Given the description of an element on the screen output the (x, y) to click on. 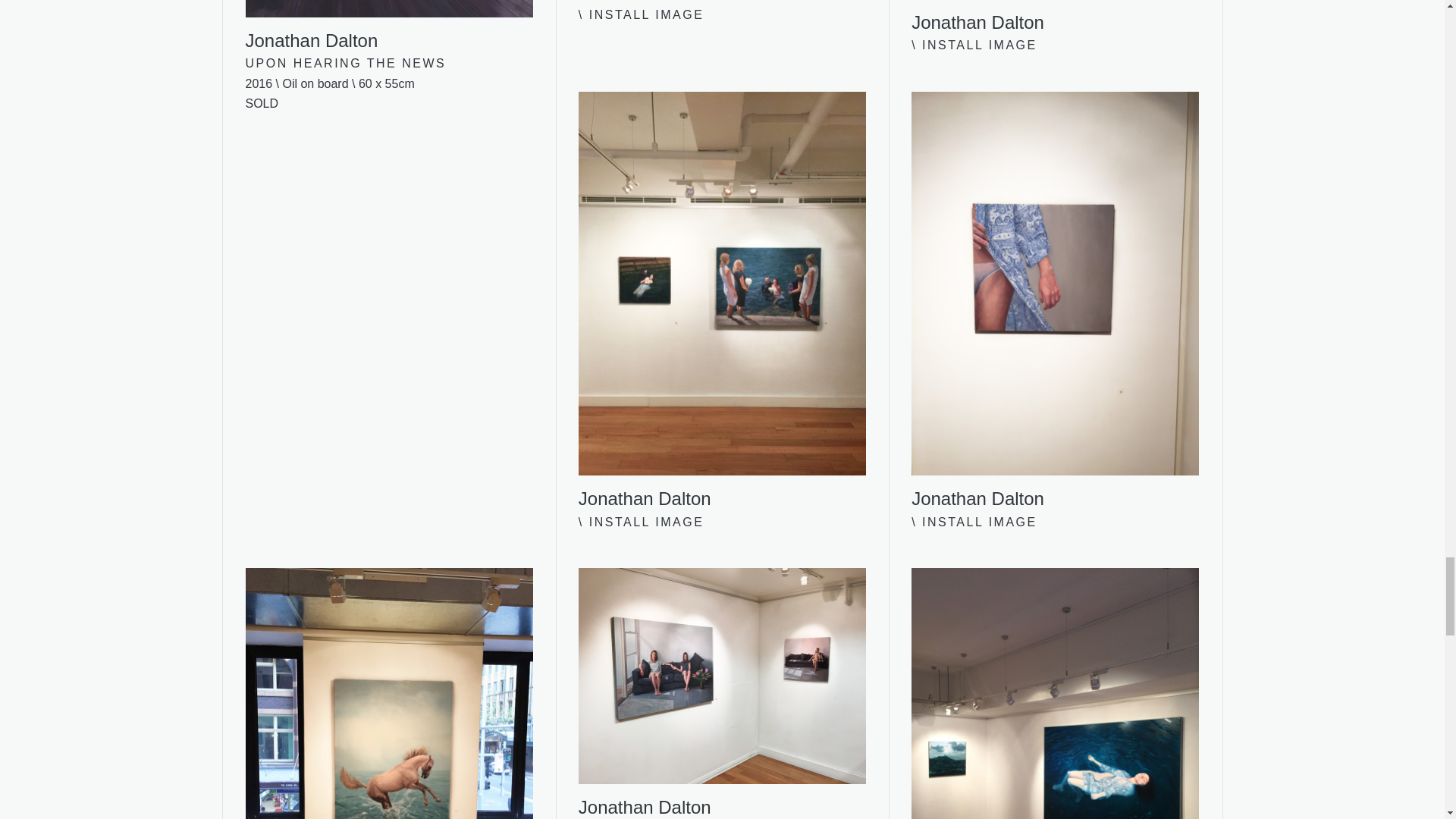
Jonathan Dalton (1054, 17)
Jonathan Dalton (722, 693)
Jonathan Dalton (722, 2)
Jonathan Dalton (389, 693)
Jonathan Dalton (389, 26)
